Given the description of an element on the screen output the (x, y) to click on. 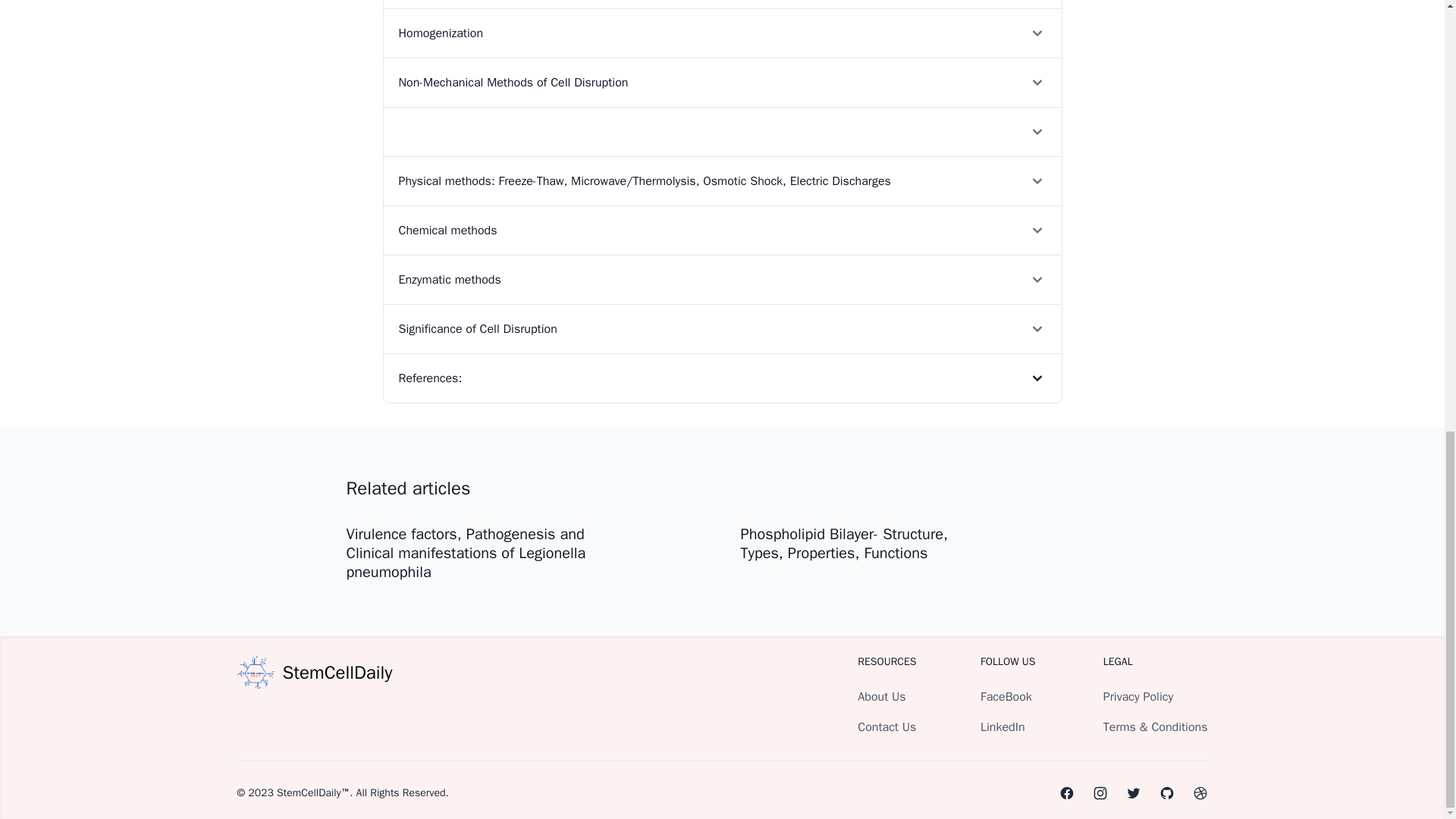
Privacy Policy (1138, 696)
About Us (881, 696)
Enzymatic methods (722, 278)
LinkedIn (1002, 726)
Ultrasonication (722, 4)
Significance of Cell Disruption (722, 327)
FaceBook (1005, 696)
References: (722, 377)
Chemical methods (722, 229)
Homogenization (722, 32)
Non-Mechanical Methods of Cell Disruption (722, 82)
StemCellDaily (313, 672)
Contact Us (886, 726)
